Given the description of an element on the screen output the (x, y) to click on. 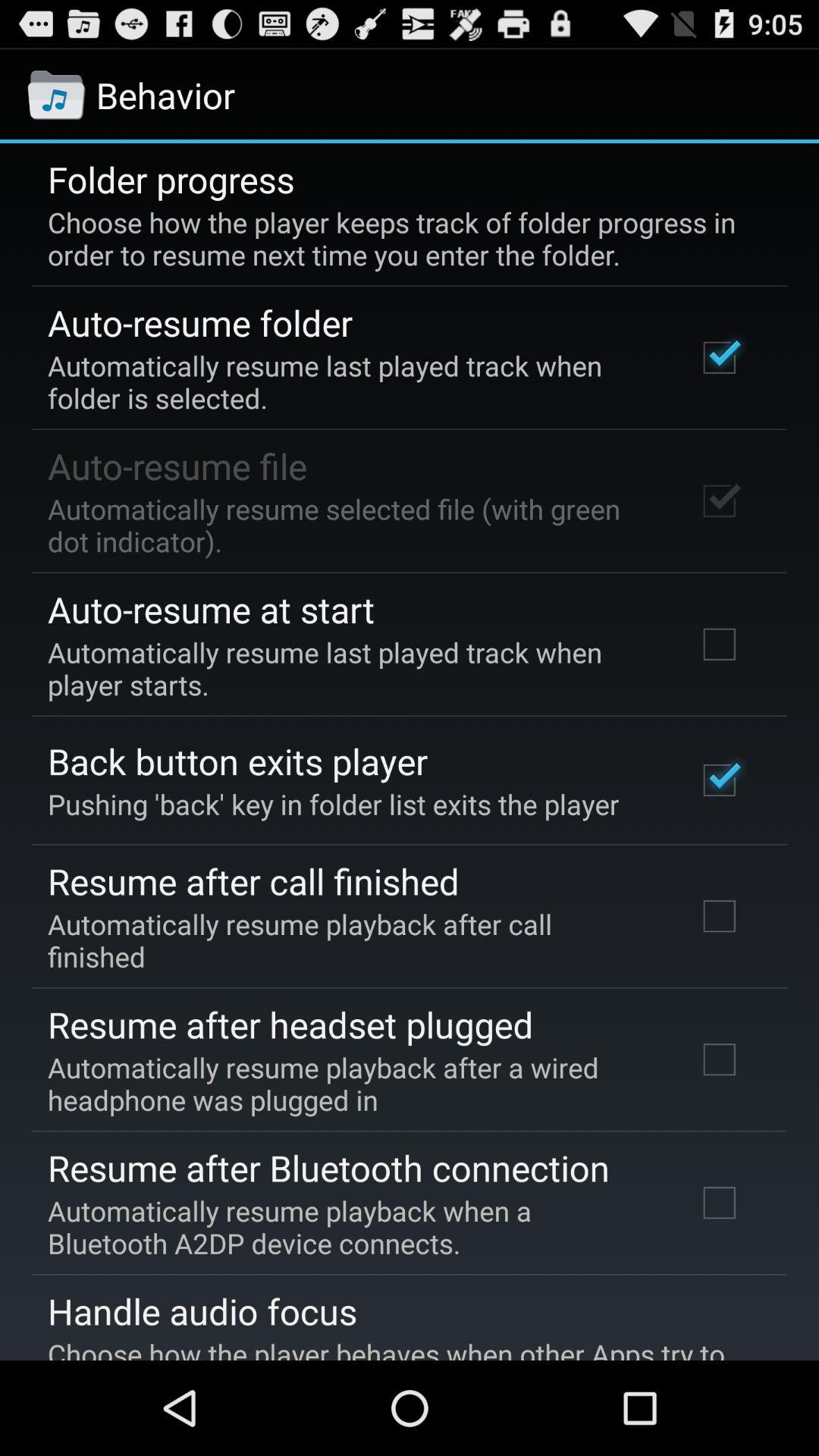
open item below automatically resume playback (202, 1311)
